Given the description of an element on the screen output the (x, y) to click on. 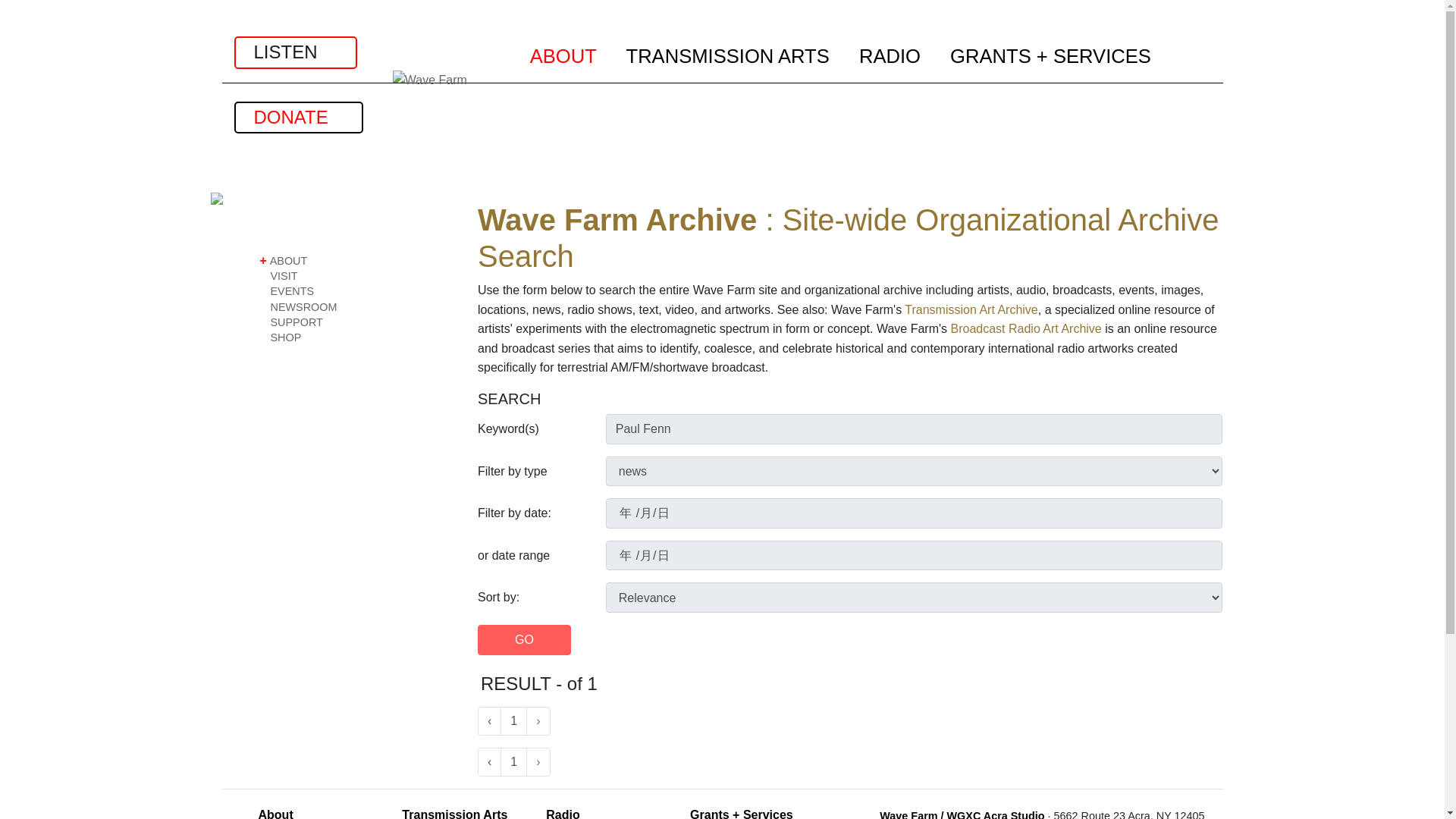
DONATE    (297, 117)
Paul Fenn (914, 429)
LISTEN     (294, 51)
